Given the description of an element on the screen output the (x, y) to click on. 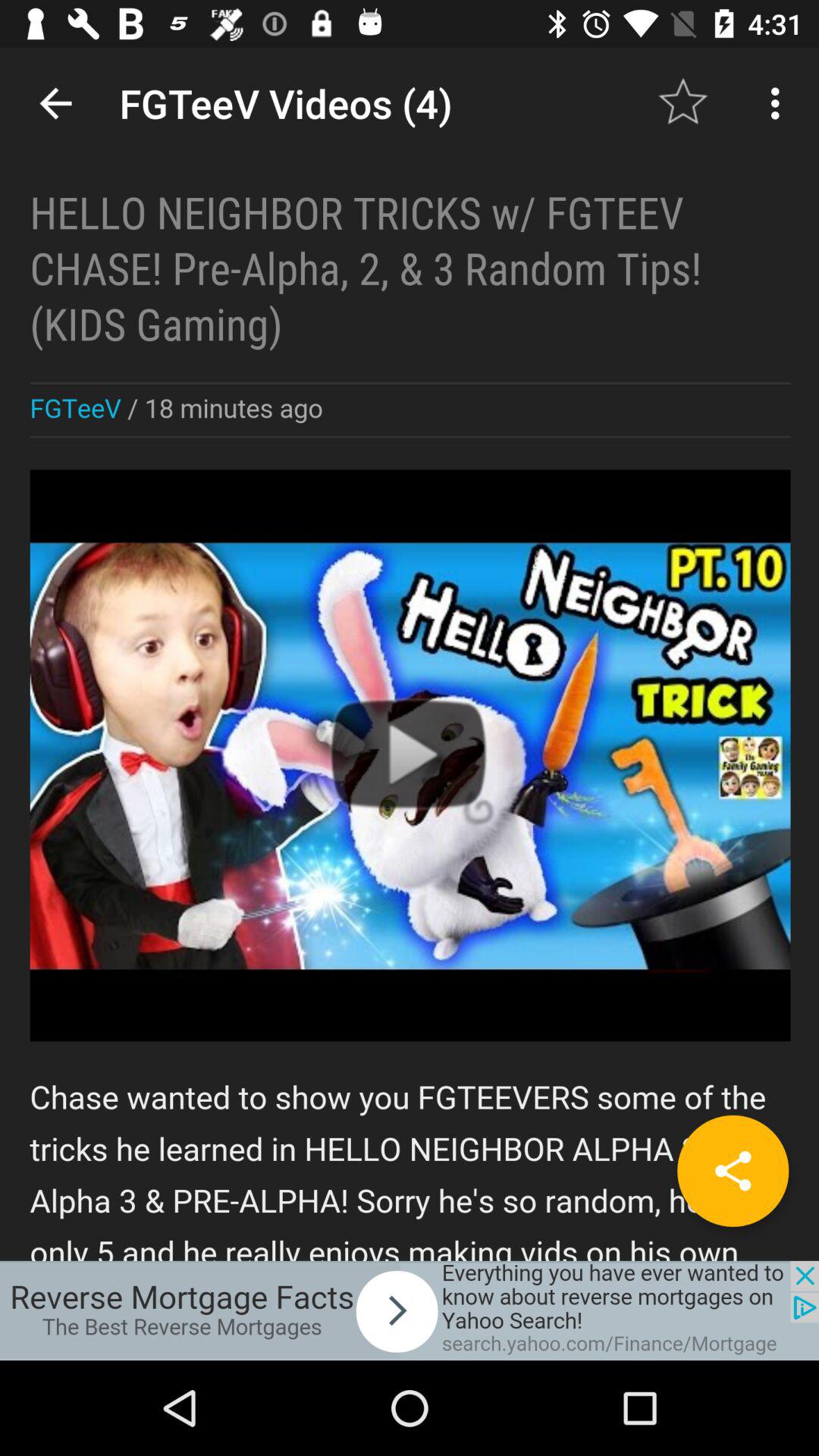
share button (733, 1171)
